Given the description of an element on the screen output the (x, y) to click on. 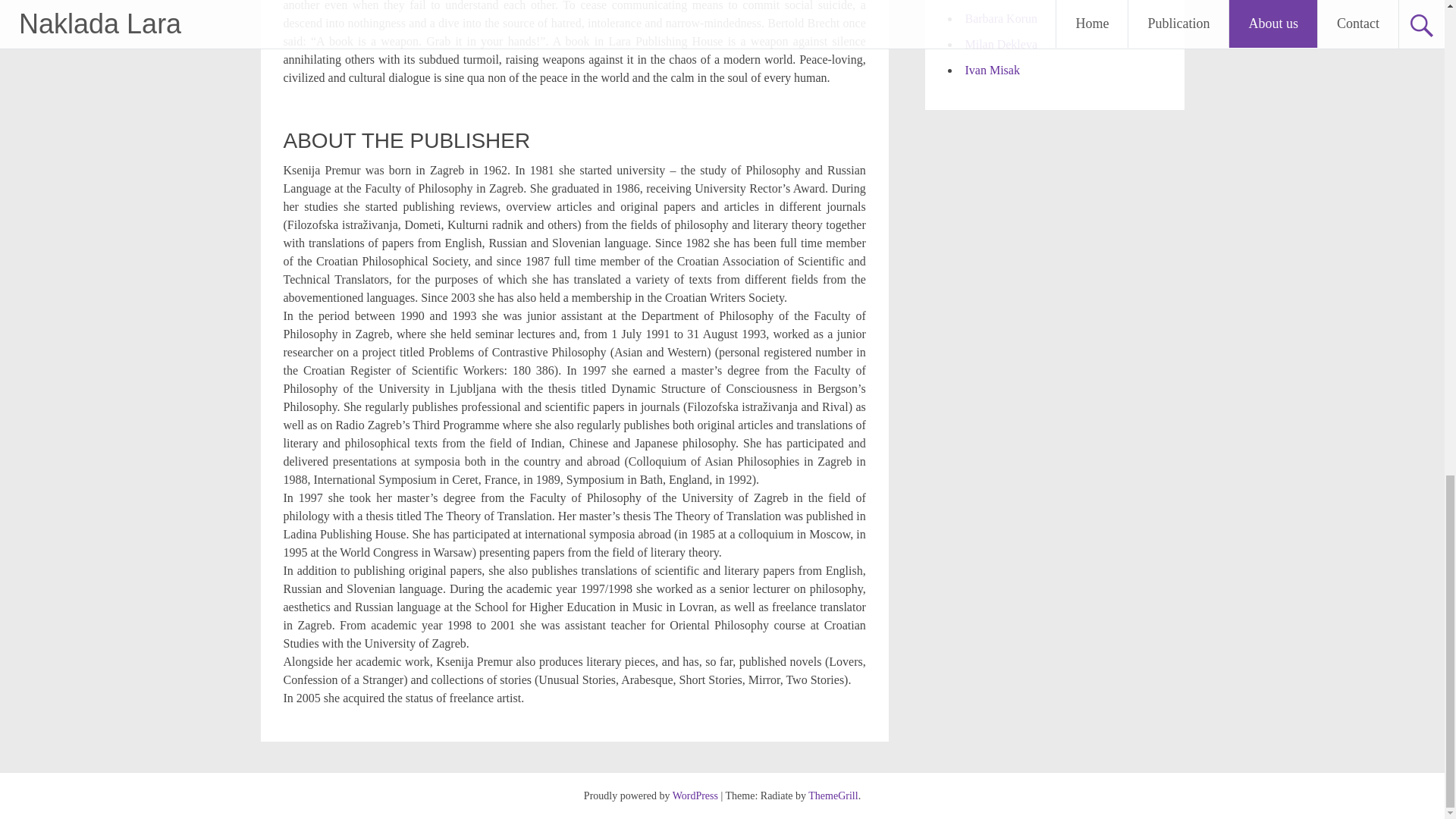
WordPress (694, 795)
Barbara Korun (999, 18)
Milan Dekleva (999, 43)
ThemeGrill (832, 795)
Ivan Misak (991, 69)
